Given the description of an element on the screen output the (x, y) to click on. 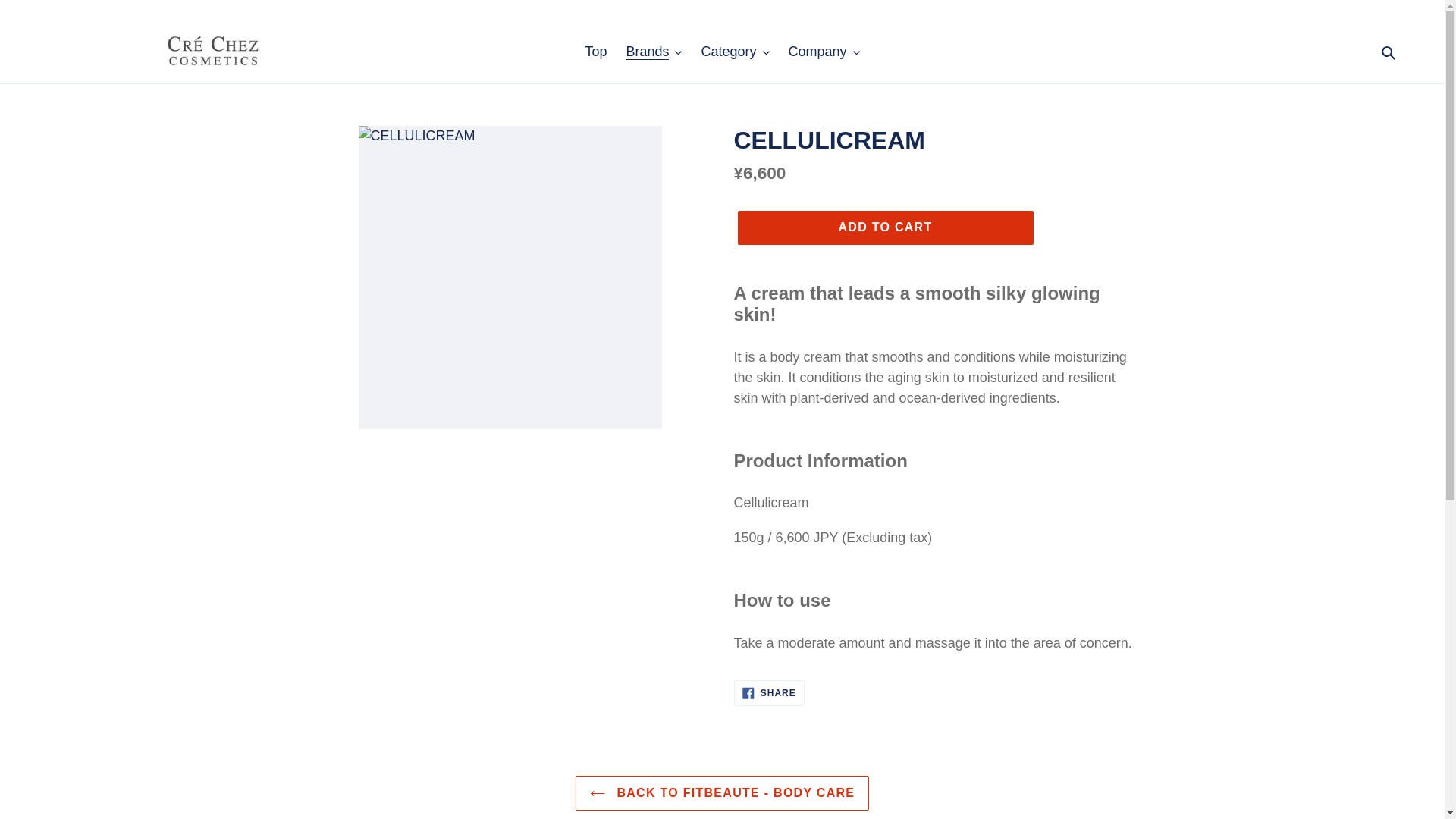
Category (734, 51)
Company (823, 51)
Brands (652, 51)
Search (1389, 51)
Top (595, 51)
